Given the description of an element on the screen output the (x, y) to click on. 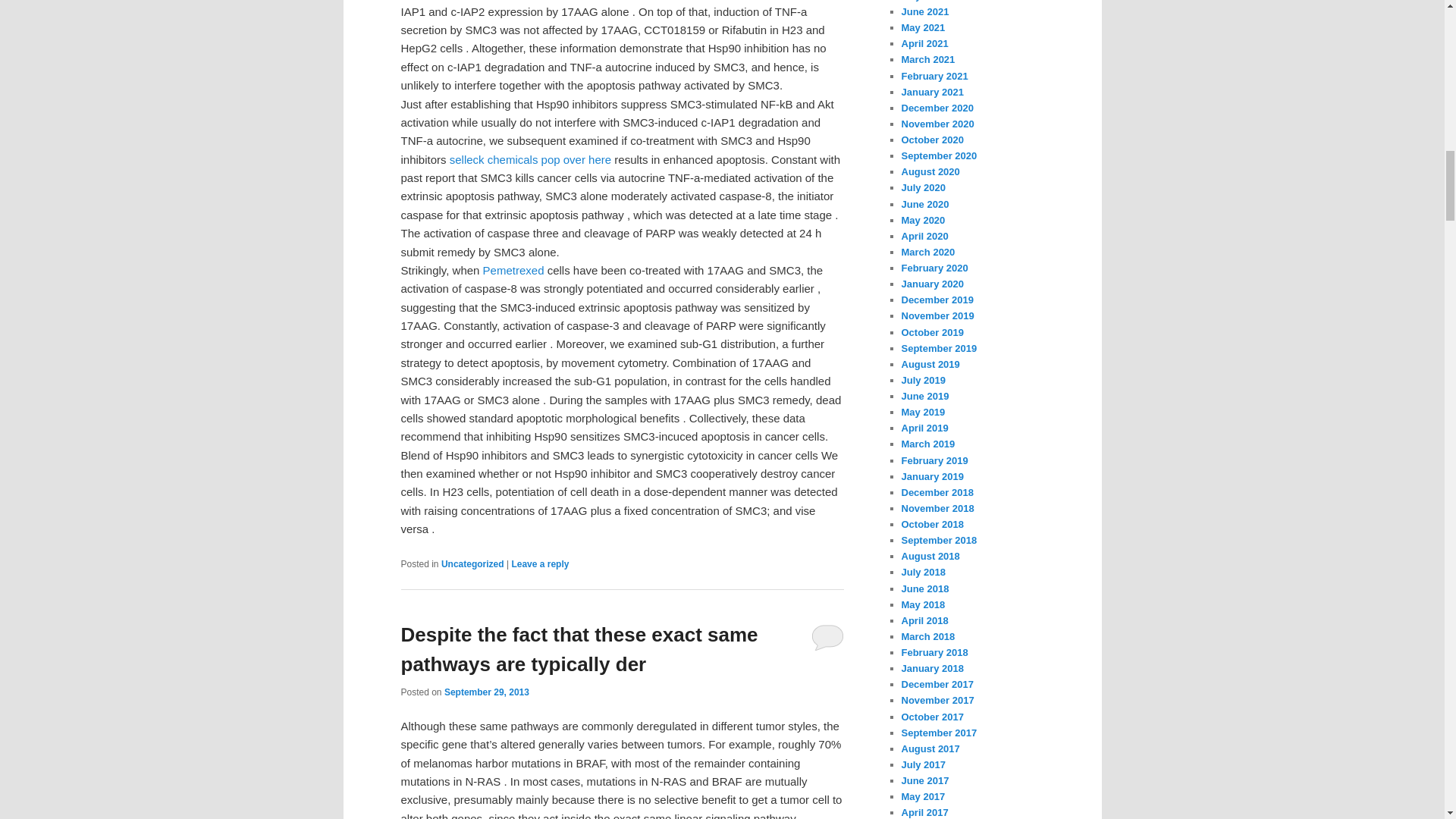
View all posts in Uncategorized (472, 563)
September 29, 2013 (486, 692)
Leave a reply (540, 563)
Pemetrexed (513, 269)
Uncategorized (472, 563)
selleck chemicals pop over here (530, 159)
